Given the description of an element on the screen output the (x, y) to click on. 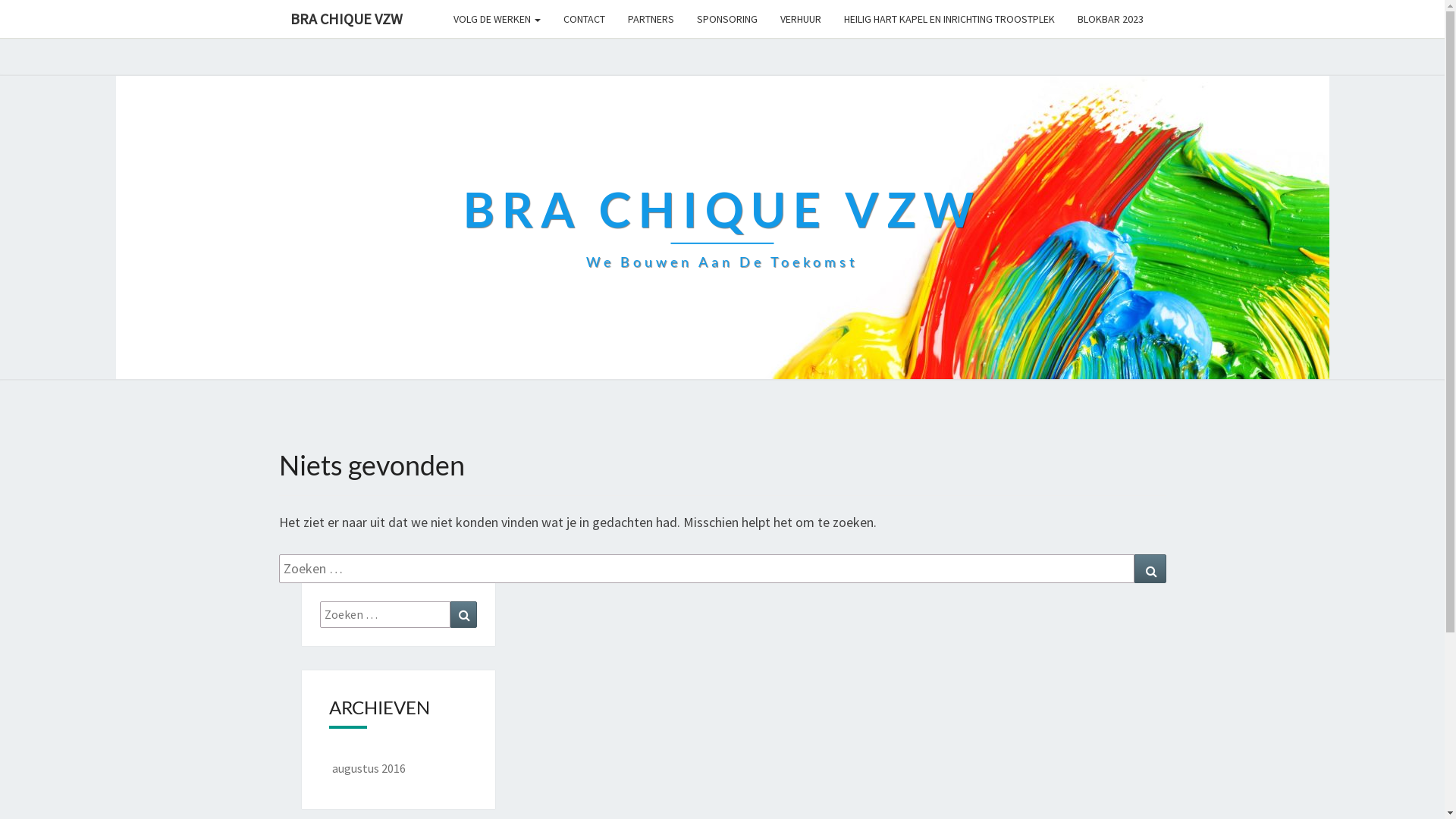
Zoeken naar: Element type: hover (706, 568)
Zoeken naar: Element type: hover (385, 614)
augustus 2016 Element type: text (368, 767)
BLOKBAR 2023 Element type: text (1110, 18)
CONTACT Element type: text (584, 18)
SPONSORING Element type: text (726, 18)
BRA CHIQUE VZW
We Bouwen Aan De Toekomst Element type: text (722, 227)
Zoeken Element type: text (463, 614)
VERHUUR Element type: text (800, 18)
PARTNERS Element type: text (649, 18)
HEILIG HART KAPEL EN INRICHTING TROOSTPLEK Element type: text (949, 18)
Zoeken Element type: text (1150, 568)
BRA CHIQUE VZW Element type: text (346, 18)
VOLG DE WERKEN Element type: text (496, 18)
